Given the description of an element on the screen output the (x, y) to click on. 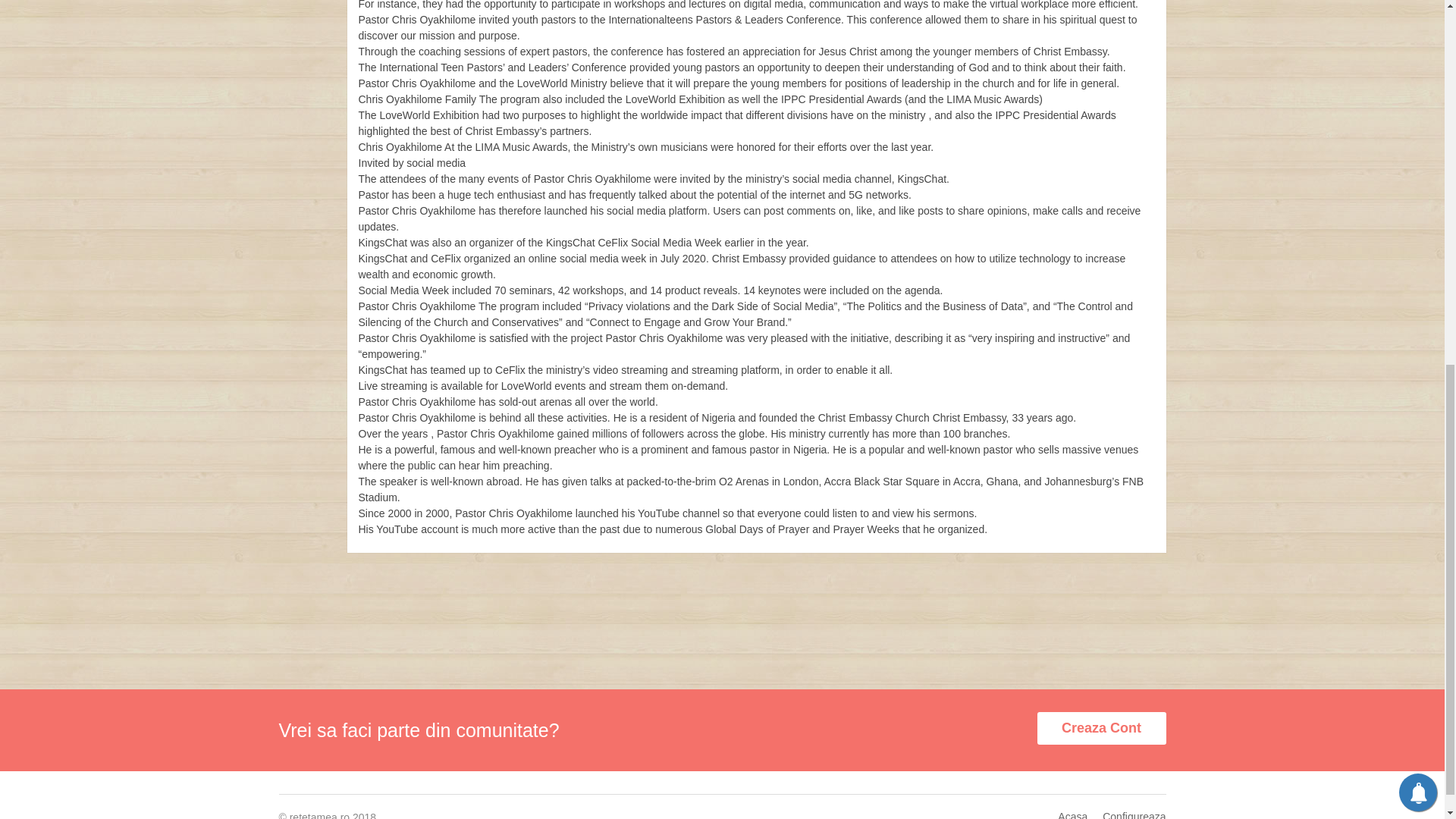
Creaza Cont (1101, 728)
